Given the description of an element on the screen output the (x, y) to click on. 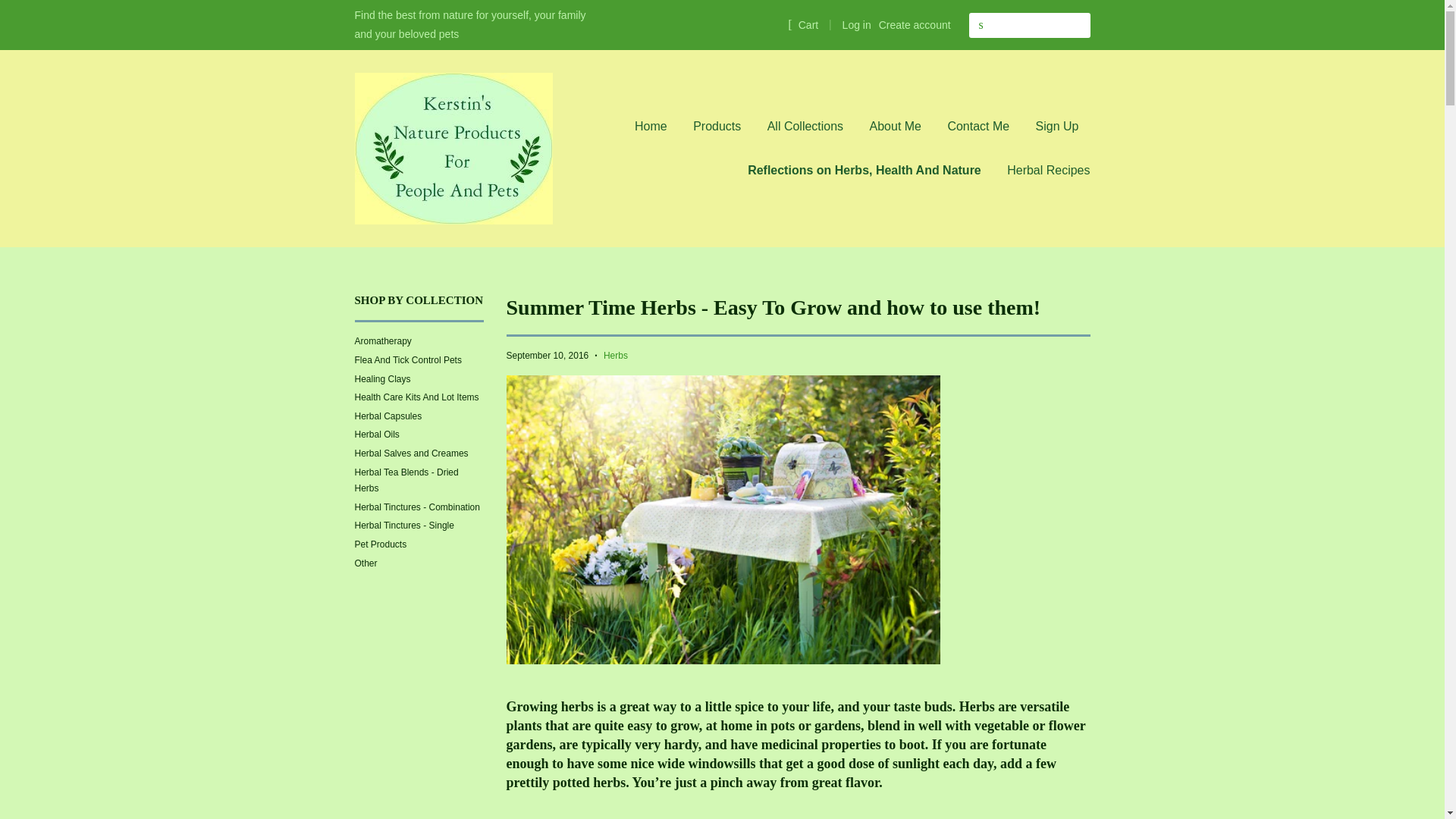
All Collections (804, 126)
Create account (914, 24)
Log in (856, 24)
Reflections on Herbs, Health And Nature (864, 170)
Home (656, 126)
Herbal Recipes (1042, 170)
Aromatherapy (383, 340)
Sign Up (1057, 126)
About Me (896, 126)
Contact Me (978, 126)
